Given the description of an element on the screen output the (x, y) to click on. 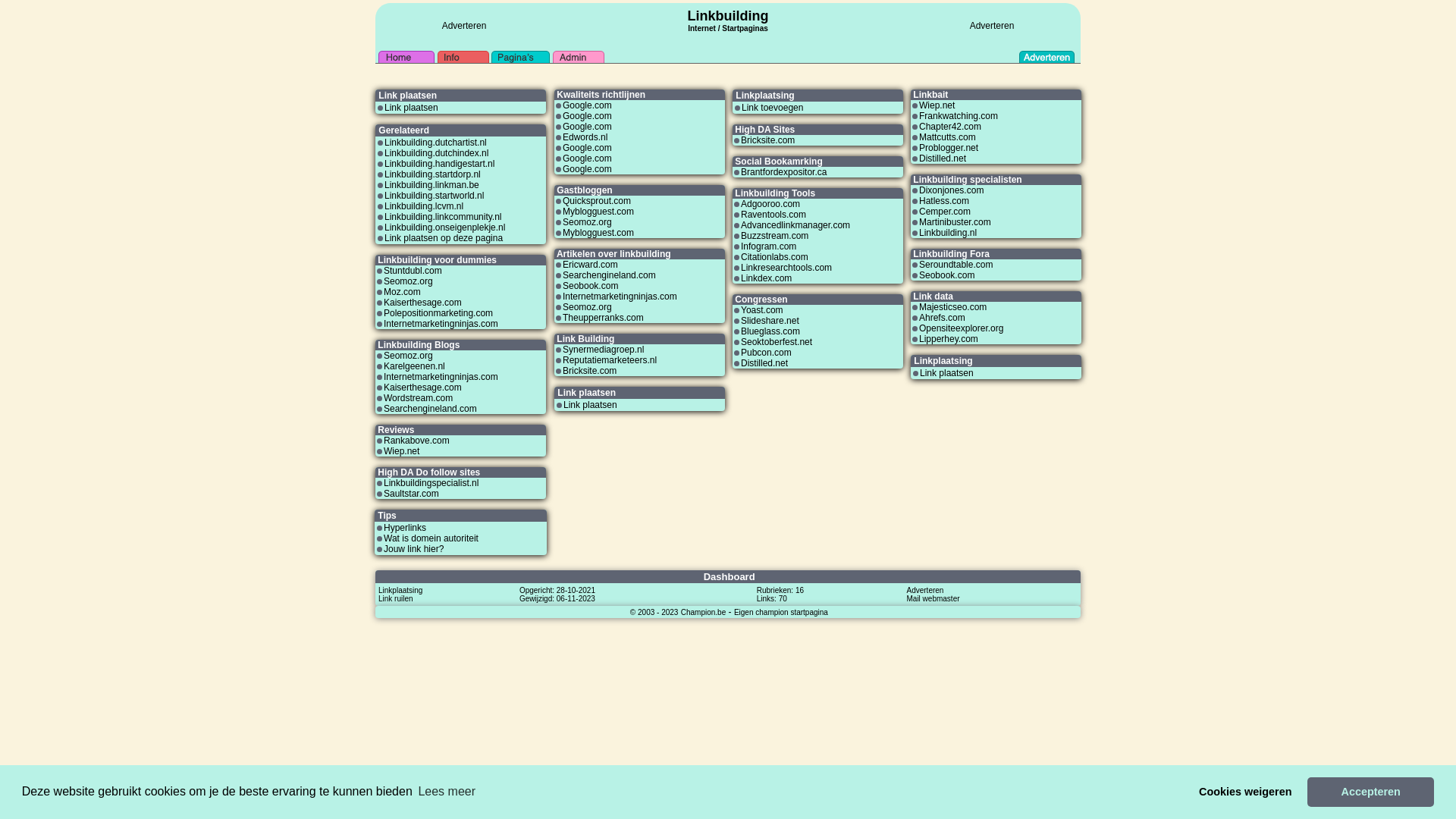
Karelgeenen.nl Element type: text (414, 365)
Edwords.nl Element type: text (584, 136)
Seoktoberfest.net Element type: text (776, 341)
Seomoz.org Element type: text (408, 281)
Adverteren Element type: text (464, 25)
Hyperlinks Element type: text (404, 527)
Wat is domein autoriteit Element type: text (430, 538)
Bricksite.com Element type: text (767, 139)
Google.com Element type: text (586, 105)
Mail webmaster Element type: text (933, 598)
Blueglass.com Element type: text (770, 331)
Google.com Element type: text (586, 147)
Moz.com Element type: text (401, 291)
Kaiserthesage.com Element type: text (422, 302)
Kaiserthesage.com Element type: text (422, 387)
Google.com Element type: text (586, 115)
Linkbuilding.onseigenplekje.nl Element type: text (444, 227)
Cemper.com Element type: text (944, 211)
Hatless.com Element type: text (944, 200)
Martinibuster.com Element type: text (955, 221)
Internet Element type: text (701, 26)
Advancedlinkmanager.com Element type: text (795, 224)
Jouw link hier? Element type: text (413, 548)
Brantfordexpositor.ca Element type: text (783, 171)
Wiep.net Element type: text (401, 450)
Reputatiemarketeers.nl Element type: text (609, 359)
Distilled.net Element type: text (942, 158)
Dixonjones.com Element type: text (951, 190)
Saultstar.com Element type: text (411, 493)
Linkdex.com Element type: text (765, 278)
Problogger.net Element type: text (948, 147)
Wiep.net Element type: text (936, 105)
Yoast.com Element type: text (761, 309)
Link plaatsen Element type: text (590, 404)
Internetmarketingninjas.com Element type: text (619, 296)
Opensiteexplorer.org Element type: text (961, 328)
Link plaatsen Element type: text (411, 107)
Eigen champion startpagina Element type: text (781, 611)
Linkbuilding.nl Element type: text (947, 232)
Link plaatsen op deze pagina Element type: text (443, 237)
Internetmarketingninjas.com Element type: text (440, 323)
Stuntdubl.com Element type: text (412, 270)
Startpaginas Element type: text (744, 28)
Buzzstream.com Element type: text (774, 235)
Polepositionmarketing.com Element type: text (437, 312)
Ericward.com Element type: text (590, 264)
Linkbuilding.startdorp.nl Element type: text (432, 174)
Linkresearchtools.com Element type: text (785, 267)
Pubcon.com Element type: text (765, 352)
Accepteren Element type: text (1370, 791)
Adverteren Element type: text (991, 25)
Lees meer Element type: text (446, 791)
Linkbuilding.dutchindex.nl Element type: text (436, 152)
Citationlabs.com Element type: text (774, 256)
Internetmarketingninjas.com Element type: text (440, 376)
Seomoz.org Element type: text (586, 306)
Linkbuilding.handigestart.nl Element type: text (439, 163)
Adgooroo.com Element type: text (770, 203)
Linkplaatsing Element type: text (400, 589)
Theupperranks.com Element type: text (602, 317)
Raventools.com Element type: text (773, 214)
Linkbuildingspecialist.nl Element type: text (430, 482)
Mattcutts.com Element type: text (947, 136)
Bricksite.com Element type: text (589, 370)
Quicksprout.com Element type: text (596, 200)
Link ruilen Element type: text (395, 598)
Searchengineland.com Element type: text (608, 274)
Google.com Element type: text (586, 126)
Chapter42.com Element type: text (950, 126)
Linkbuilding.dutchartist.nl Element type: text (435, 142)
Ahrefs.com Element type: text (942, 317)
Searchengineland.com Element type: text (429, 408)
Seomoz.org Element type: text (586, 221)
Seomoz.org Element type: text (408, 355)
Distilled.net Element type: text (763, 362)
Myblogguest.com Element type: text (597, 211)
Google.com Element type: text (586, 168)
Wordstream.com Element type: text (417, 397)
Rankabove.com Element type: text (416, 440)
Synermediagroep.nl Element type: text (602, 349)
Cookies weigeren Element type: text (1245, 791)
Linkbuilding.linkcommunity.nl Element type: text (443, 216)
Adverteren Element type: text (925, 589)
Linkbuilding.linkman.be Element type: text (431, 184)
Linkbuilding.startworld.nl Element type: text (433, 195)
Linkbuilding Element type: text (727, 15)
Link toevoegen Element type: text (772, 107)
Myblogguest.com Element type: text (597, 232)
Seobook.com Element type: text (946, 274)
Google.com Element type: text (586, 158)
Linkbuilding.lcvm.nl Element type: text (423, 205)
Seobook.com Element type: text (590, 285)
Infogram.com Element type: text (768, 246)
Lipperhey.com Element type: text (948, 338)
Link plaatsen Element type: text (946, 372)
Frankwatching.com Element type: text (958, 115)
Champion.be Element type: text (702, 611)
Seroundtable.com Element type: text (955, 264)
Majesticseo.com Element type: text (952, 306)
Slideshare.net Element type: text (769, 320)
